Given the description of an element on the screen output the (x, y) to click on. 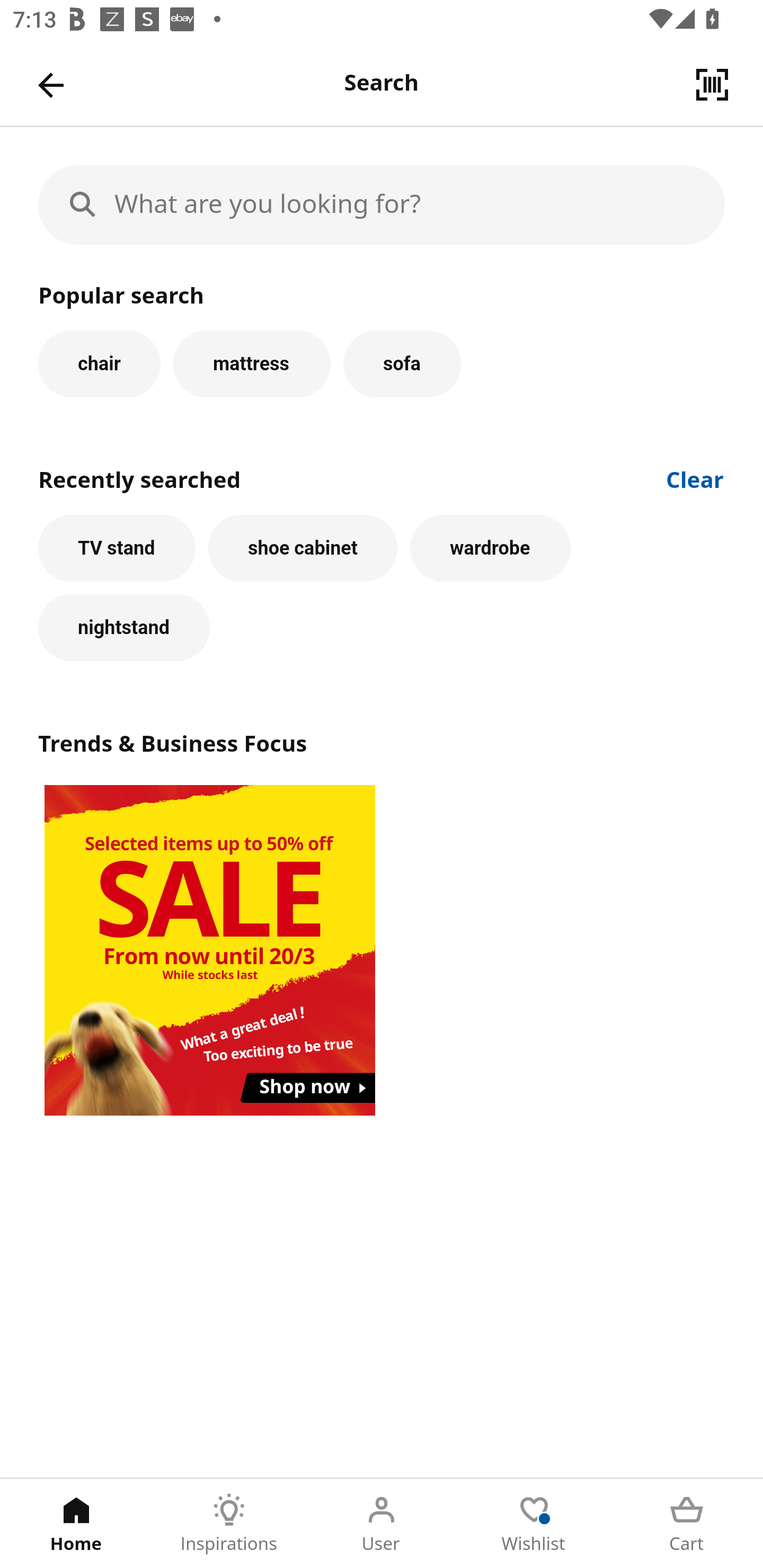
chair (99, 363)
mattress (251, 363)
sofa (401, 363)
Clear (695, 477)
TV stand (116, 547)
shoe cabinet (302, 547)
wardrobe (490, 547)
nightstand (123, 627)
Home
Tab 1 of 5 (76, 1522)
Inspirations
Tab 2 of 5 (228, 1522)
User
Tab 3 of 5 (381, 1522)
Wishlist
Tab 4 of 5 (533, 1522)
Cart
Tab 5 of 5 (686, 1522)
